Given the description of an element on the screen output the (x, y) to click on. 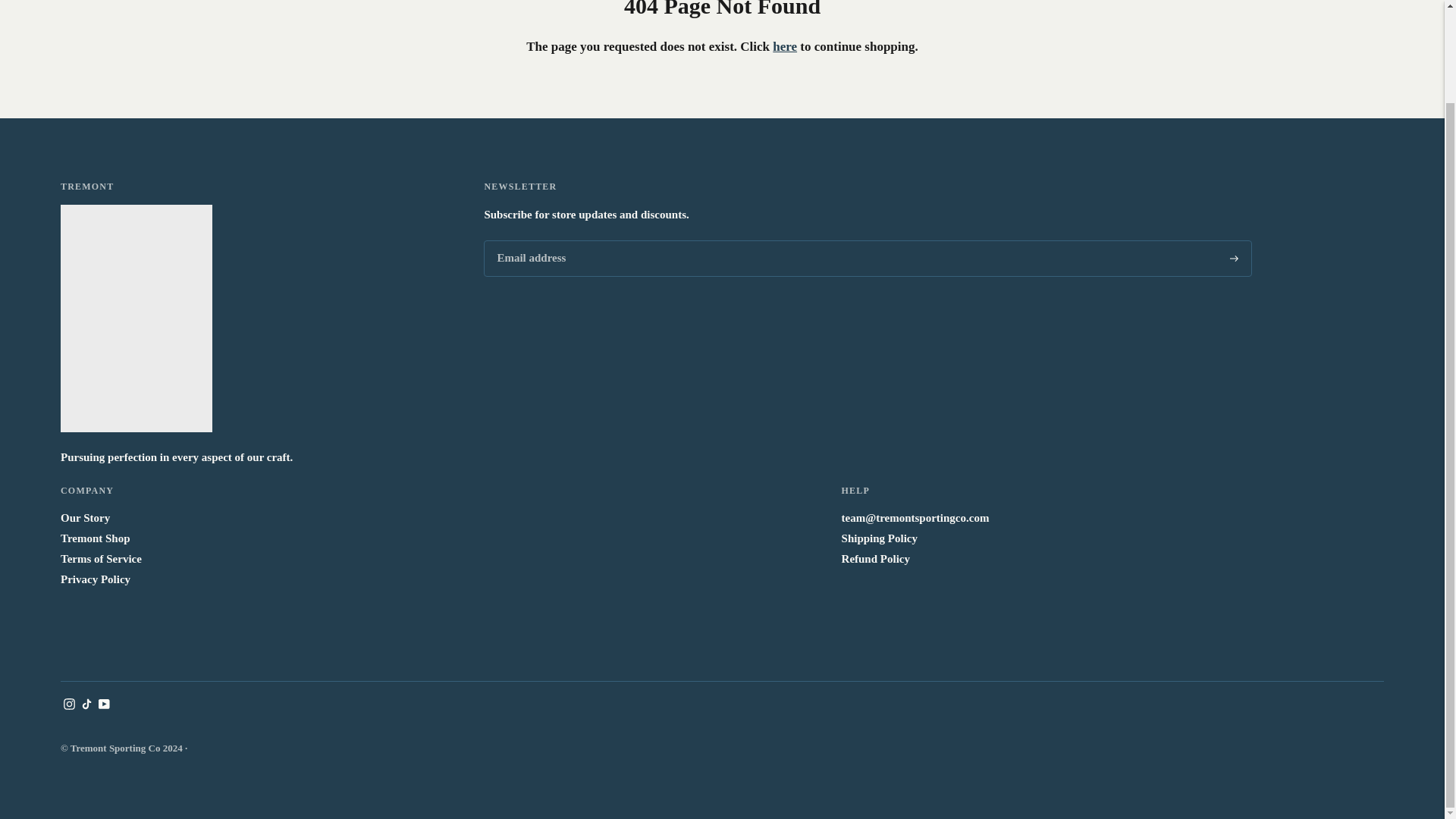
Tremont Sporting Co. on YouTube (104, 705)
Tremont Sporting Co. on Instagram (69, 705)
Tremont Sporting Co. on TikTok (87, 705)
